Given the description of an element on the screen output the (x, y) to click on. 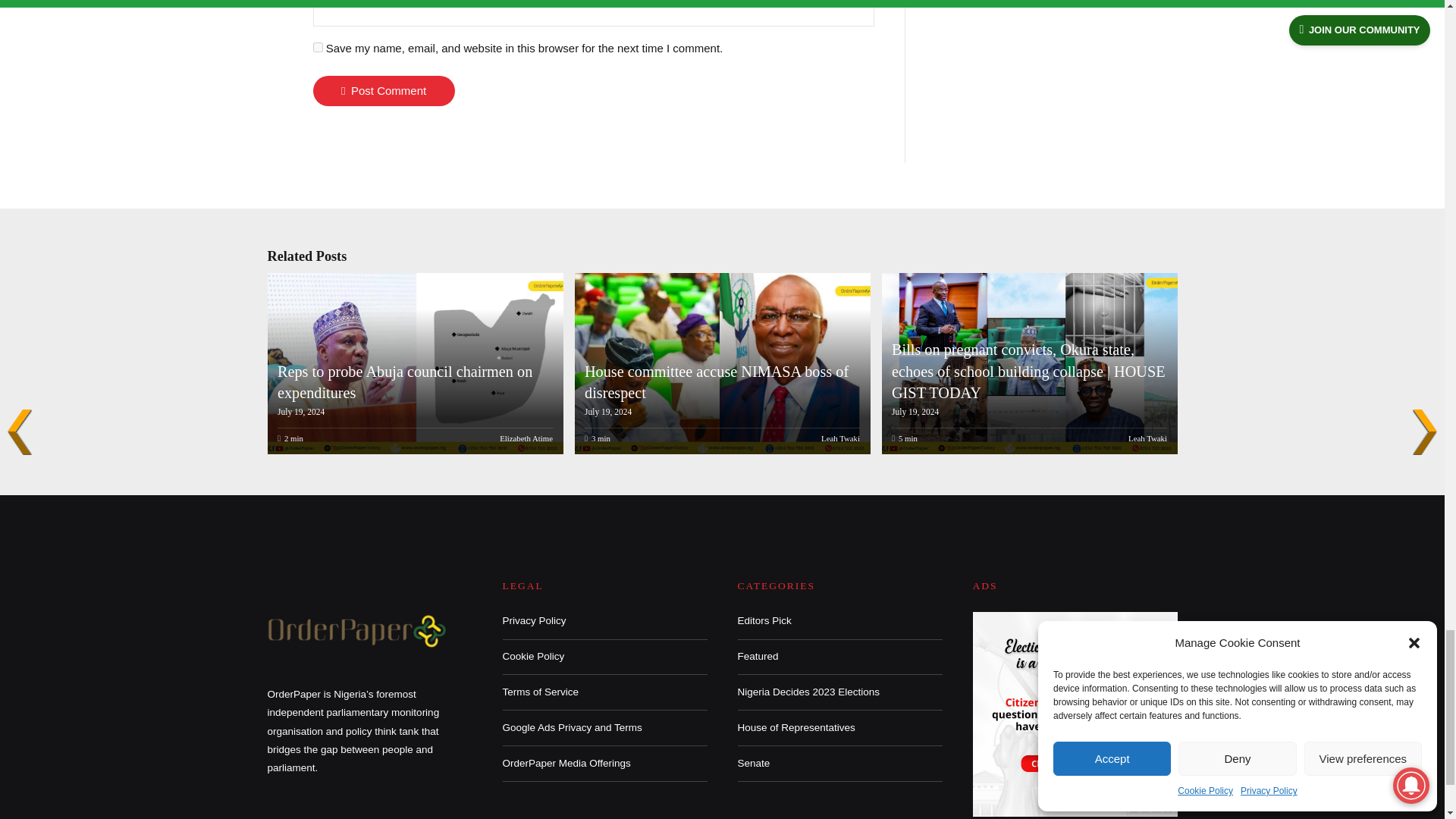
yes (317, 47)
